Given the description of an element on the screen output the (x, y) to click on. 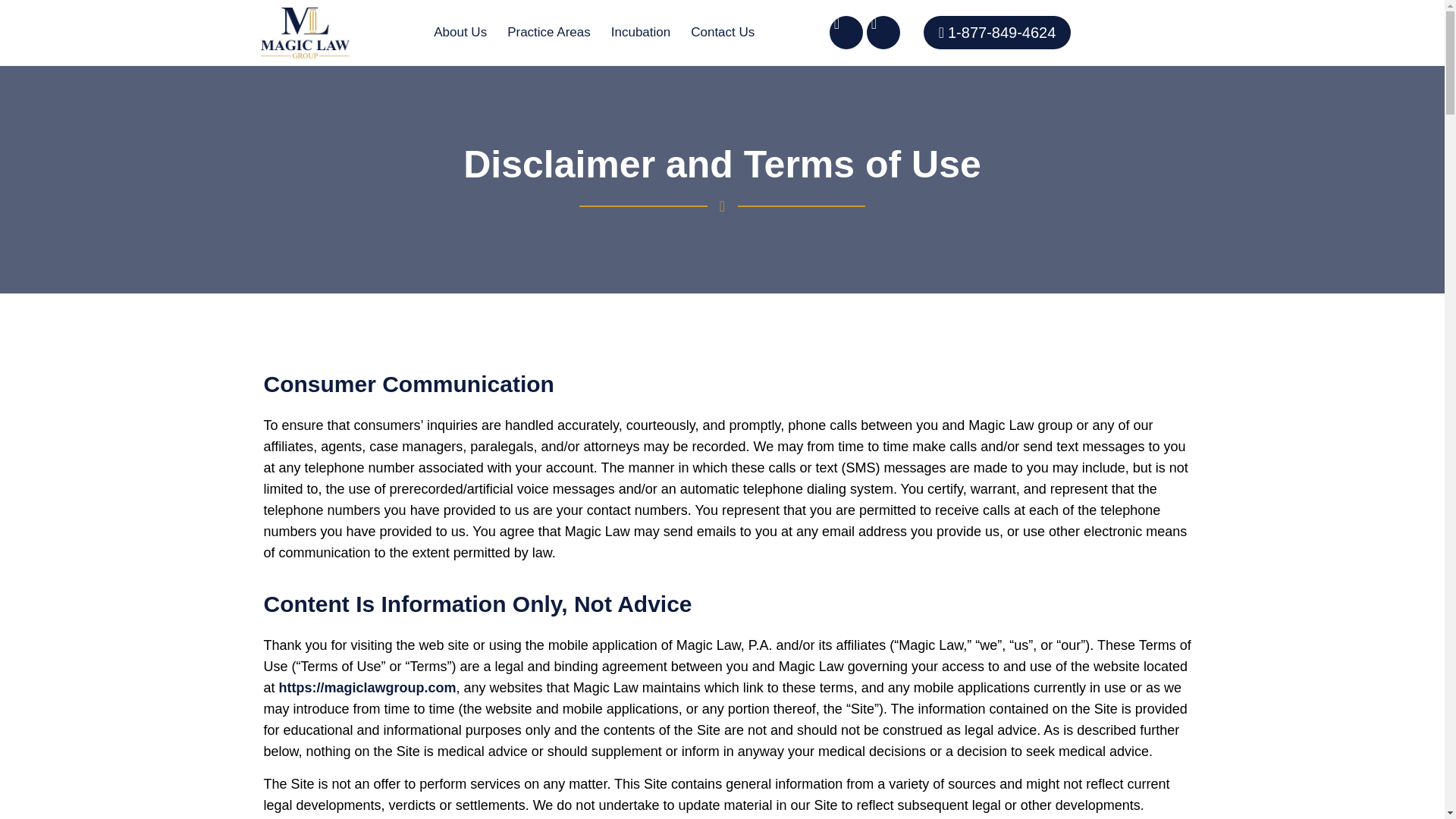
1-877-849-4624 (997, 32)
Contact Us (722, 32)
About Us (459, 32)
Practice Areas (548, 32)
Incubation (640, 32)
